Given the description of an element on the screen output the (x, y) to click on. 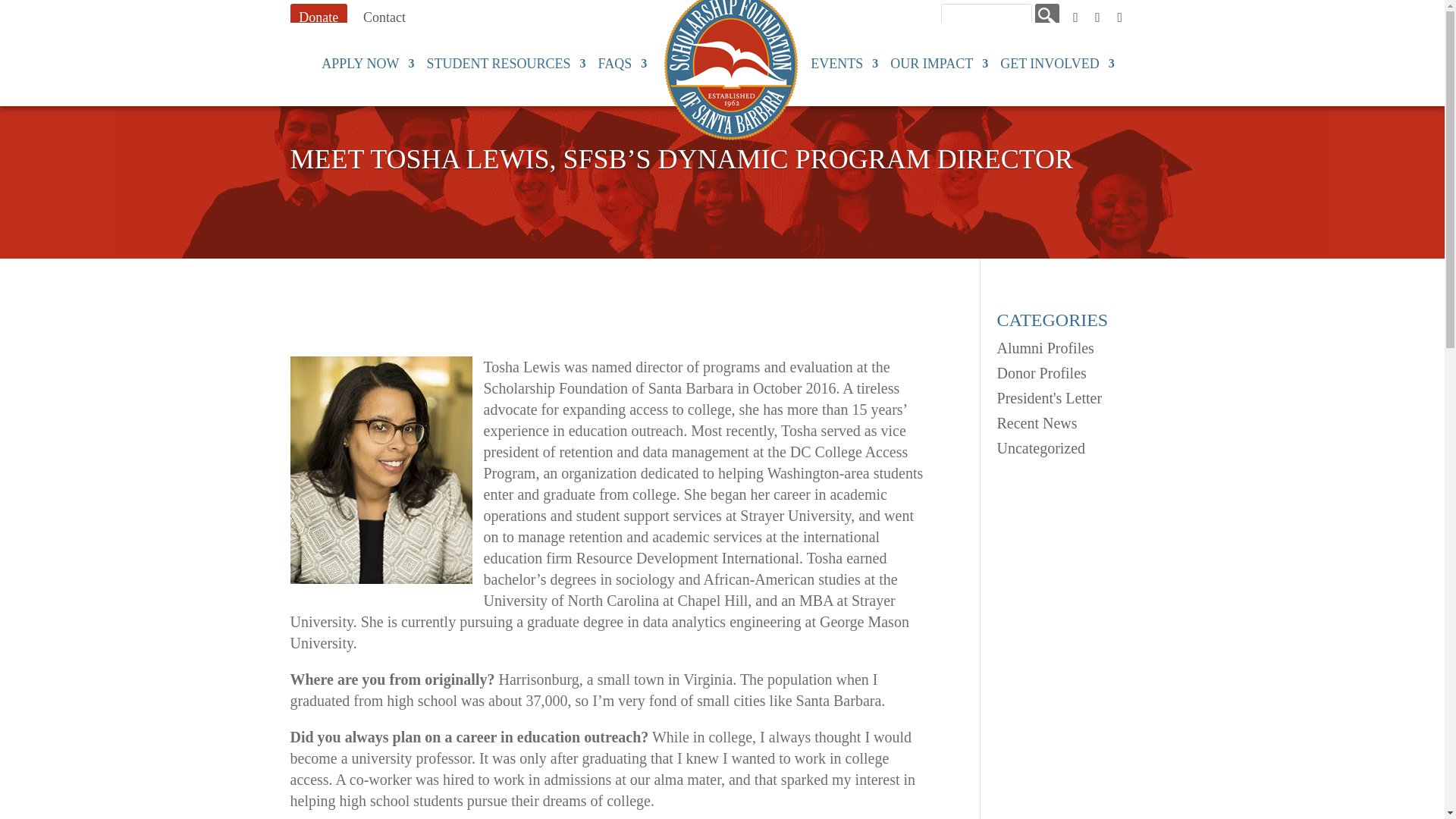
GET INVOLVED (1057, 76)
Donate (317, 17)
FAQS (622, 76)
OUR IMPACT (938, 76)
APPLY NOW (367, 76)
EVENTS (843, 76)
STUDENT RESOURCES (505, 76)
Contact (383, 17)
